Given the description of an element on the screen output the (x, y) to click on. 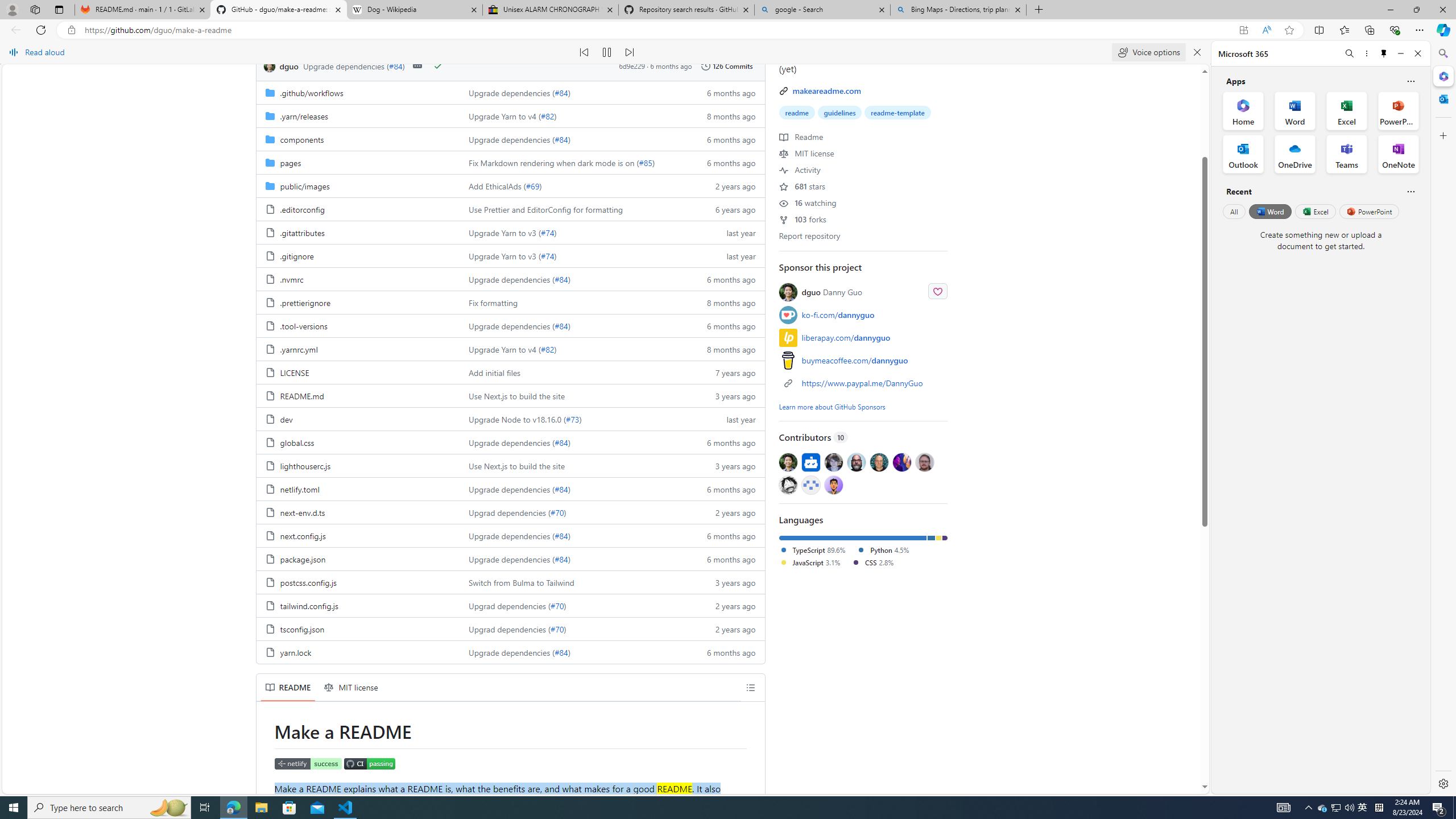
Permalink: Make a README (266, 731)
@dguo (787, 461)
@mstrzele (809, 484)
#84 (560, 652)
Upgrade Node to v18.16.0 (#73) (573, 418)
lighthouserc.js, (File) (304, 465)
AutomationID: folder-row-1 (510, 115)
Excel (1315, 210)
 MIT license (806, 152)
readme-template (897, 112)
.nvmrc, (File) (291, 279)
success (437, 65)
@Haroenv (901, 461)
